Given the description of an element on the screen output the (x, y) to click on. 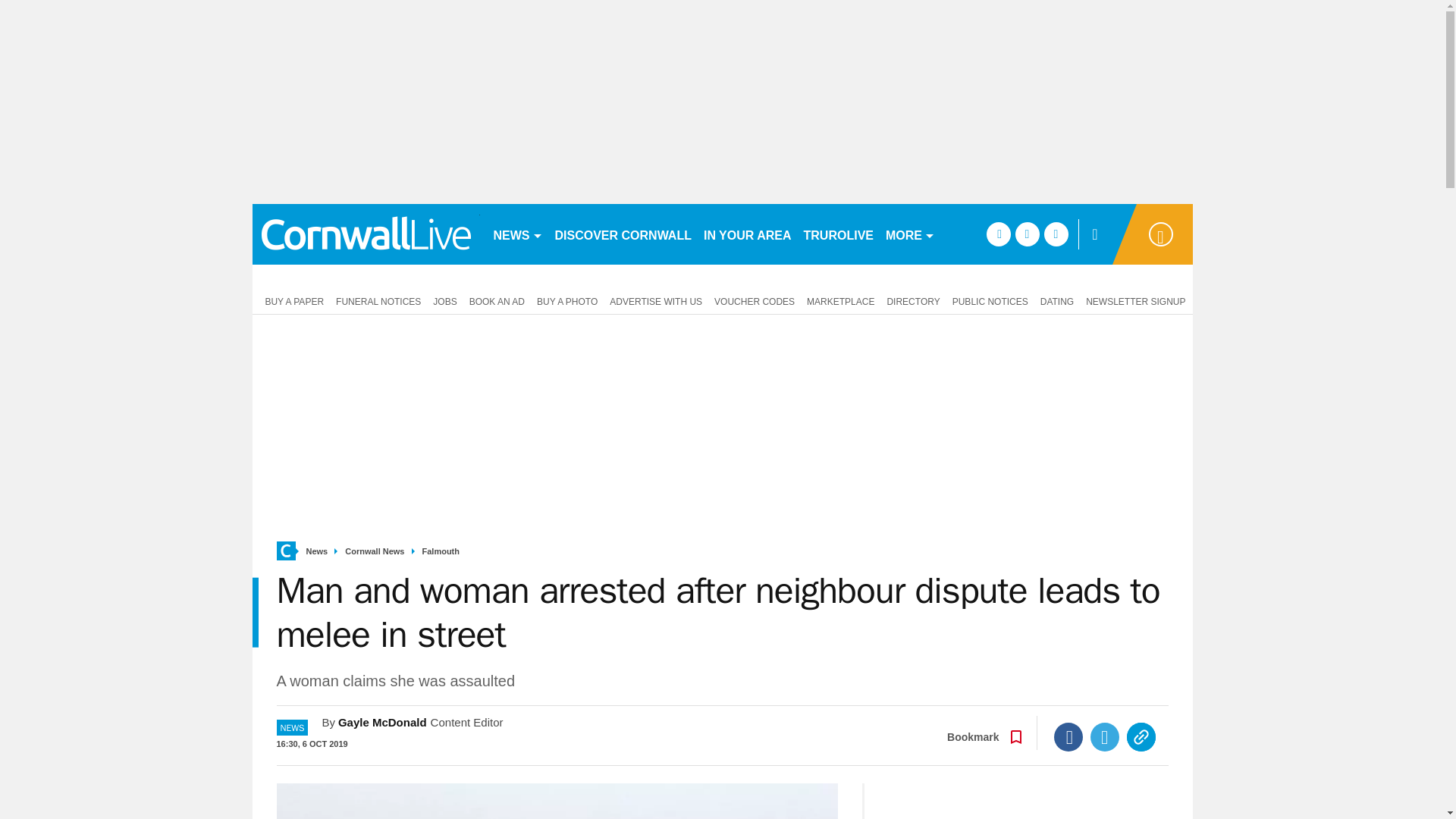
cornwalllive (365, 233)
Twitter (1104, 736)
MORE (909, 233)
facebook (997, 233)
Facebook (1068, 736)
instagram (1055, 233)
TRUROLIVE (838, 233)
twitter (1026, 233)
DISCOVER CORNWALL (622, 233)
IN YOUR AREA (747, 233)
NEWS (517, 233)
